Given the description of an element on the screen output the (x, y) to click on. 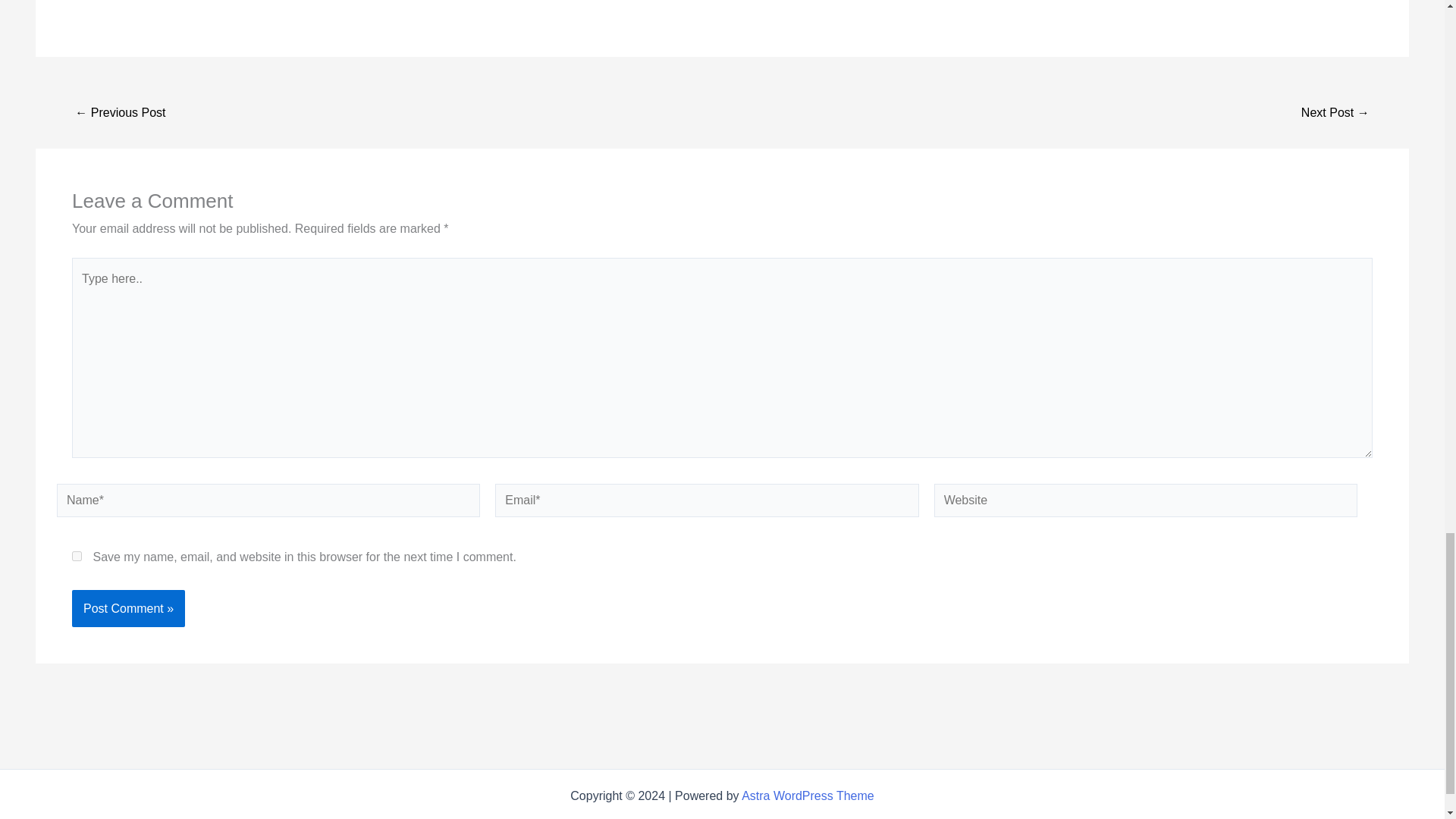
Built Tough For Home And Businesses Alike (1334, 112)
yes (76, 556)
Astra WordPress Theme (808, 795)
